Given the description of an element on the screen output the (x, y) to click on. 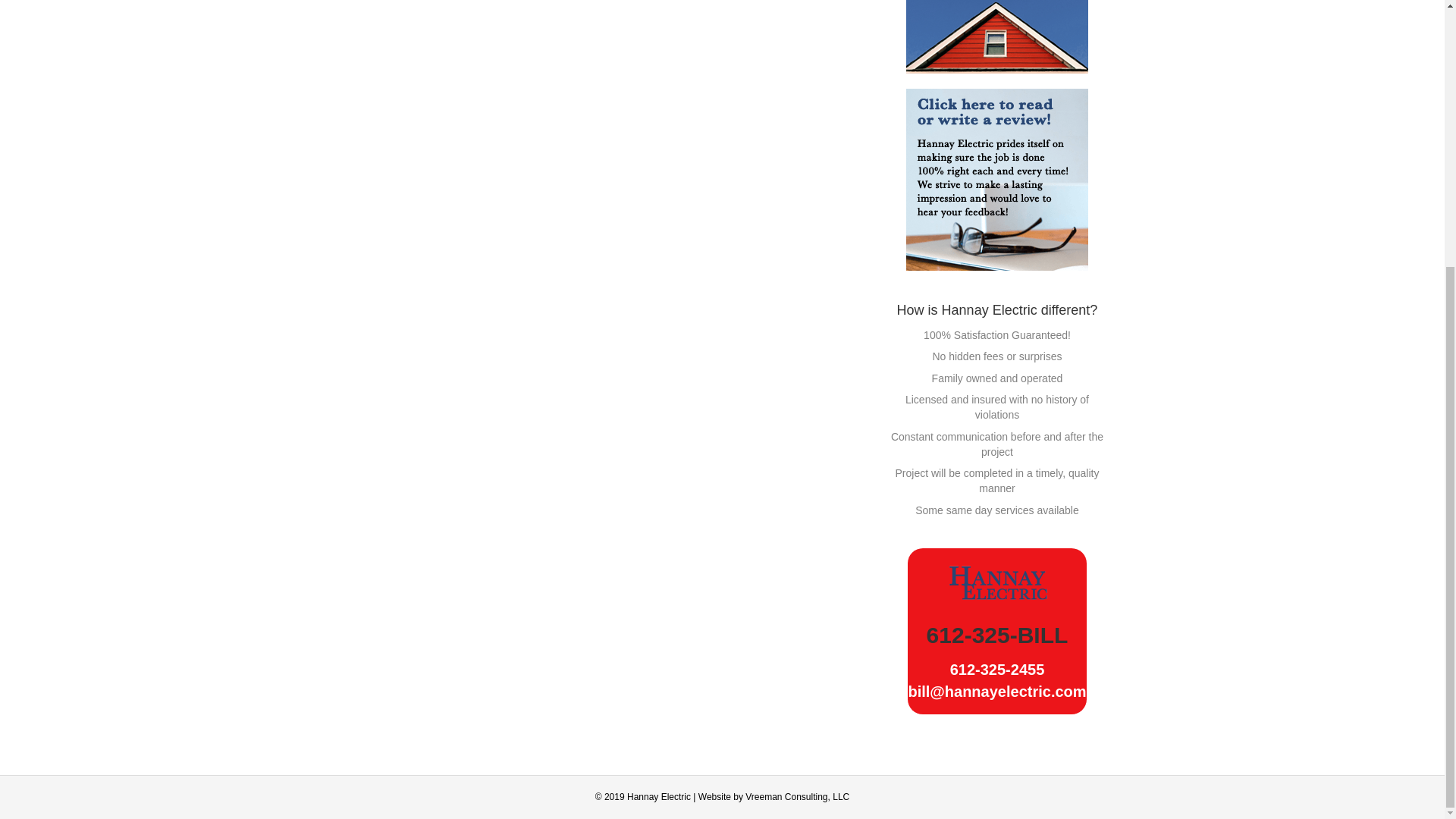
Vreeman Consulting, LLC (796, 796)
